Given the description of an element on the screen output the (x, y) to click on. 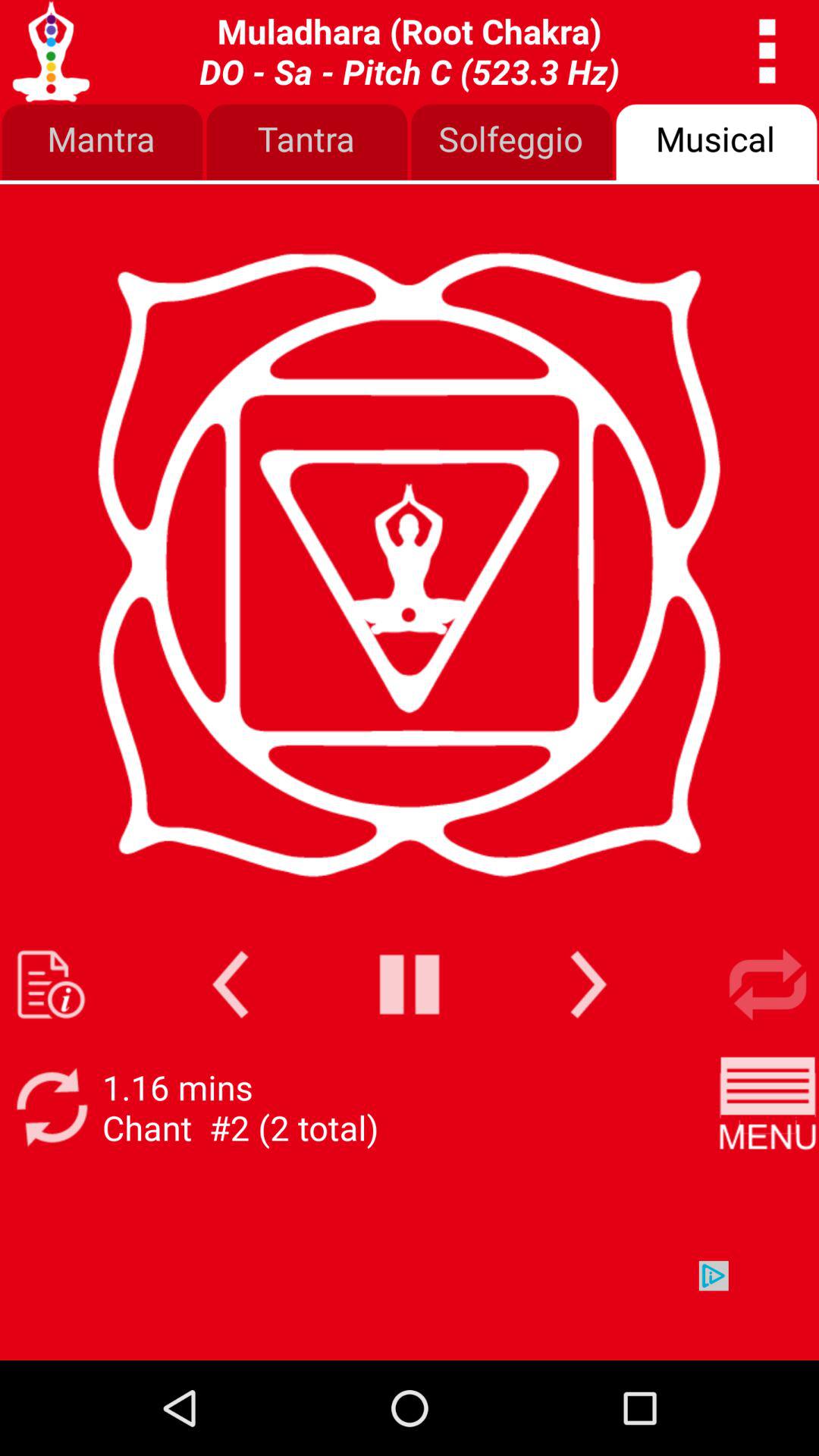
flip to solfeggio item (511, 143)
